Given the description of an element on the screen output the (x, y) to click on. 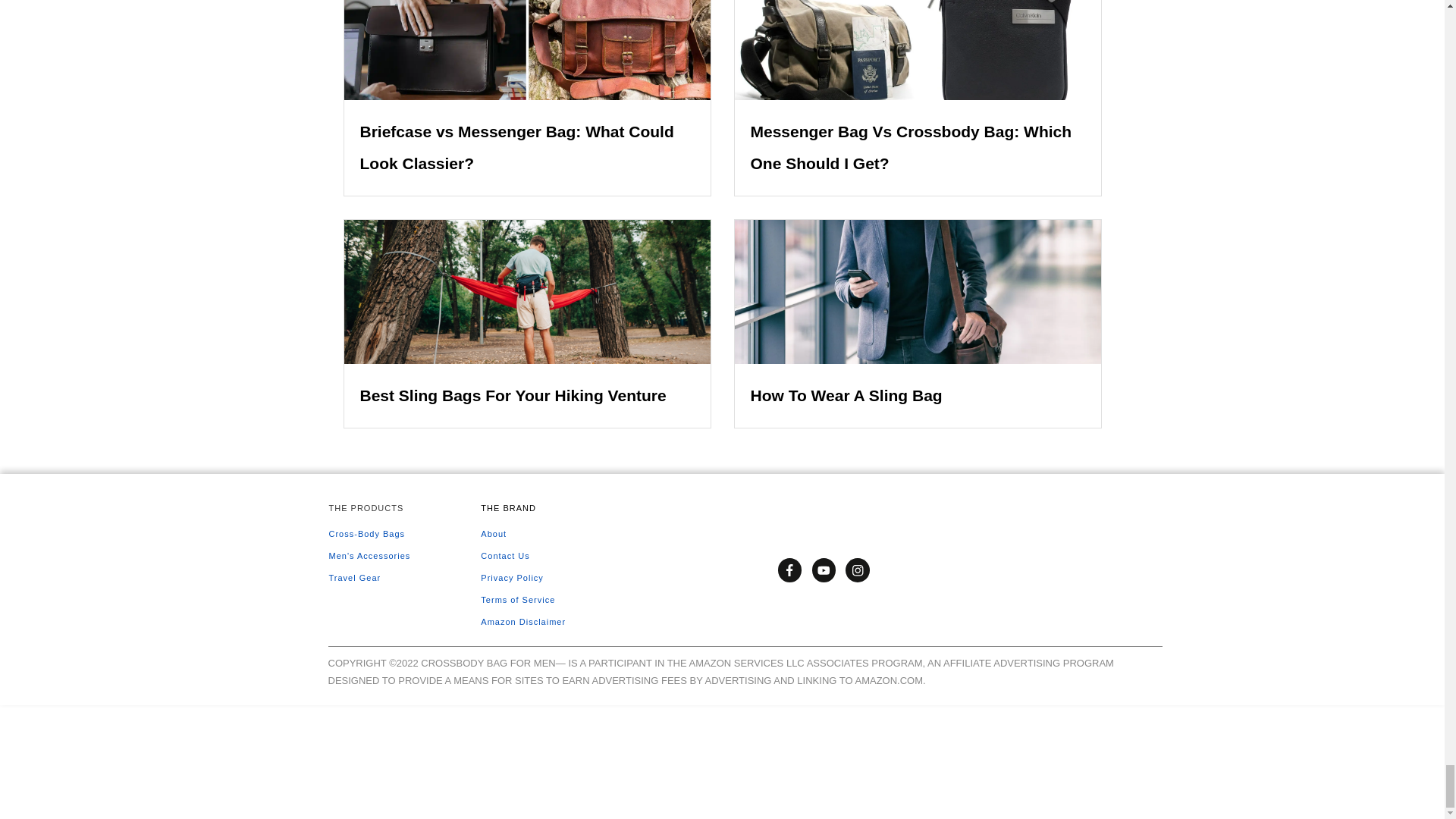
DMCA.com Protection Status (113, 760)
How To Wear A Sling Bag (846, 395)
Best Sling Bags For Your Hiking Venture (512, 395)
Briefcase vs Messenger Bag: What Could Look Classier? (515, 146)
Messenger Bag Vs Crossbody Bag: Which One Should I Get? (911, 146)
